Given the description of an element on the screen output the (x, y) to click on. 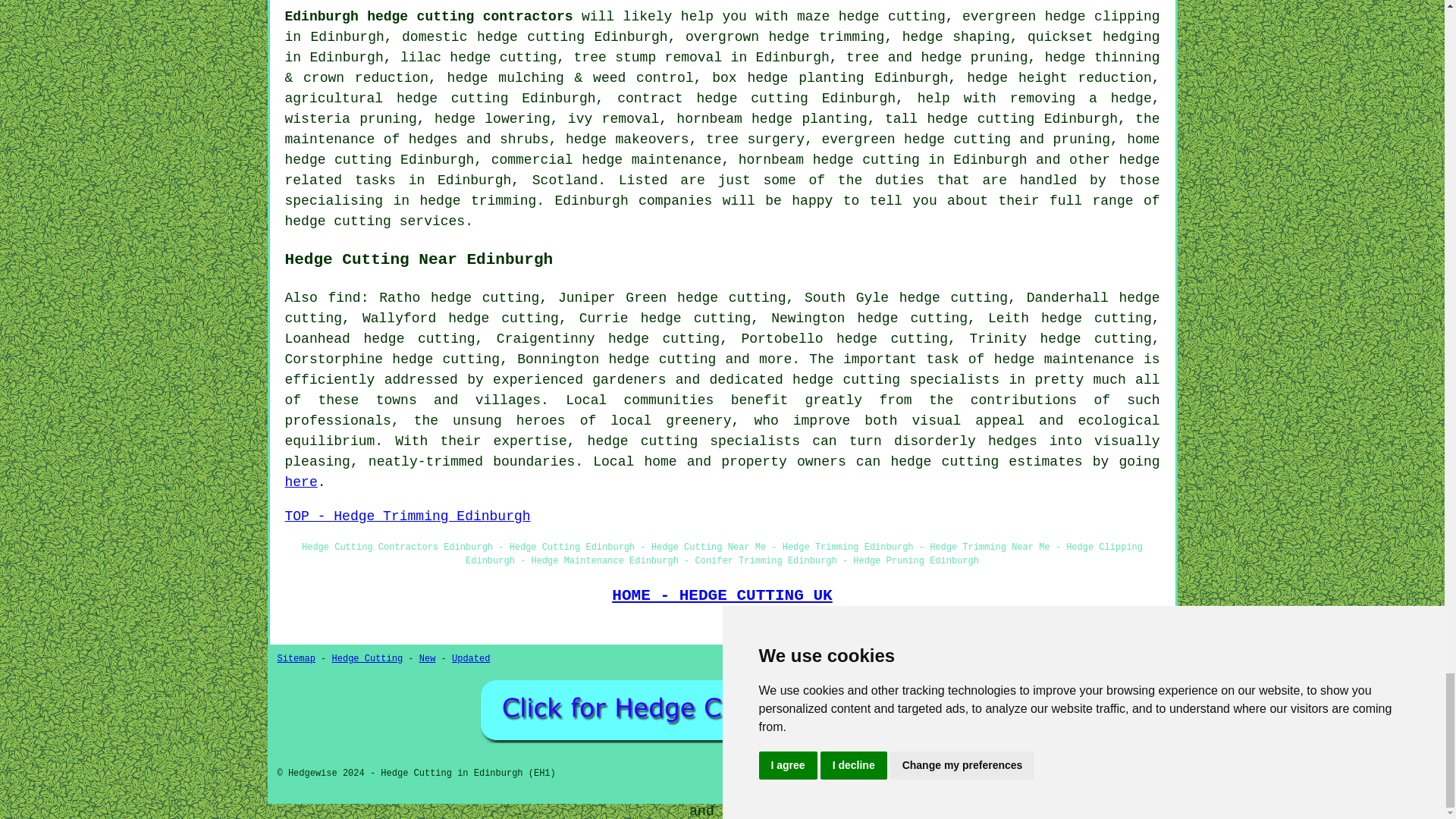
domestic hedge cutting (493, 37)
